Given the description of an element on the screen output the (x, y) to click on. 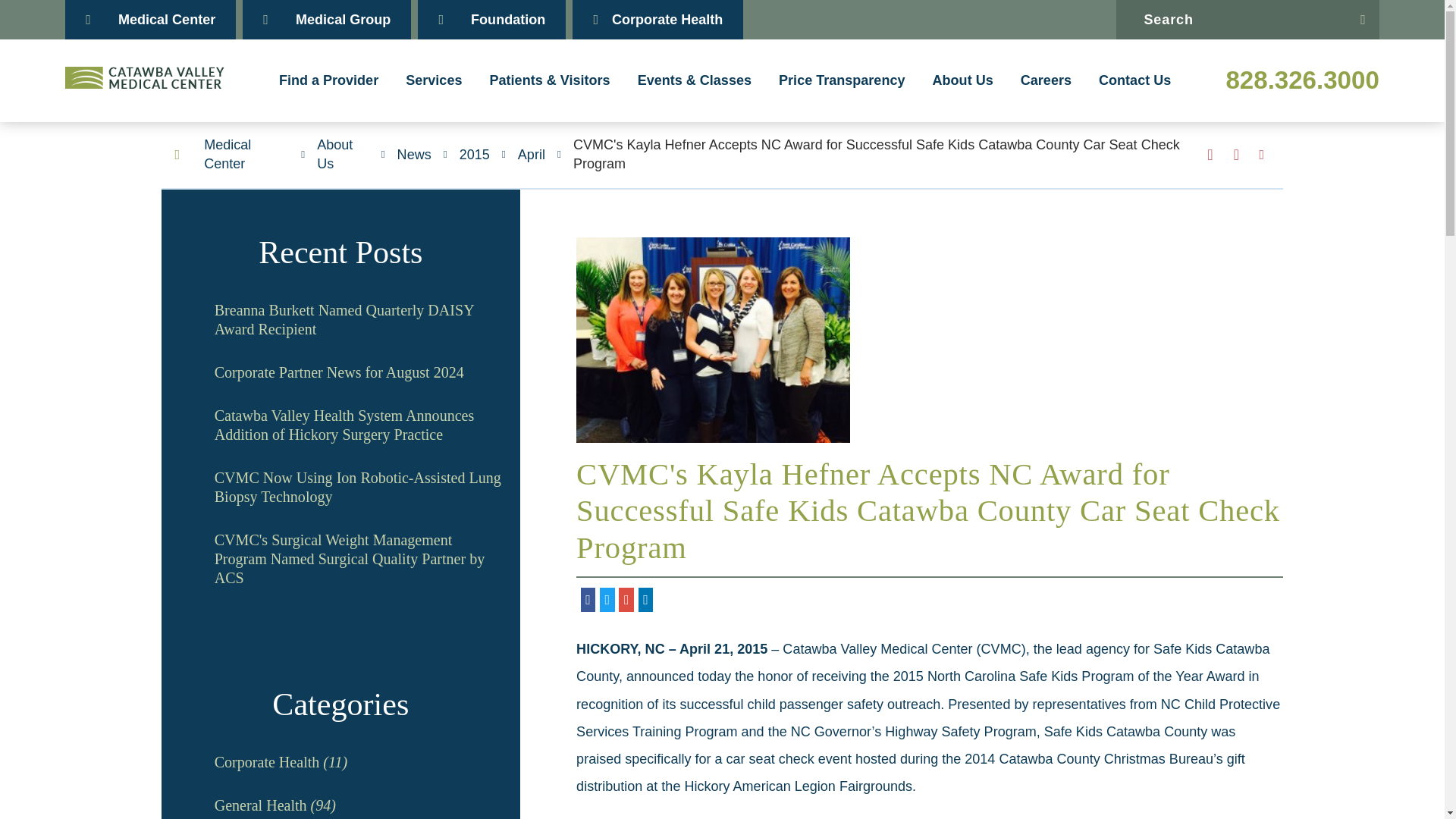
Price Transparency (841, 79)
Medical Group (326, 19)
About Us (962, 79)
Medical Center (150, 19)
Corporate Health (657, 19)
Services (433, 79)
Find a Provider (327, 79)
Foundation (491, 19)
Refer a Friend (1235, 154)
Careers (1045, 79)
Contact Us (1134, 79)
Catawba Valley Medical Center (144, 77)
Printer-Friendly Page (1261, 154)
